Given the description of an element on the screen output the (x, y) to click on. 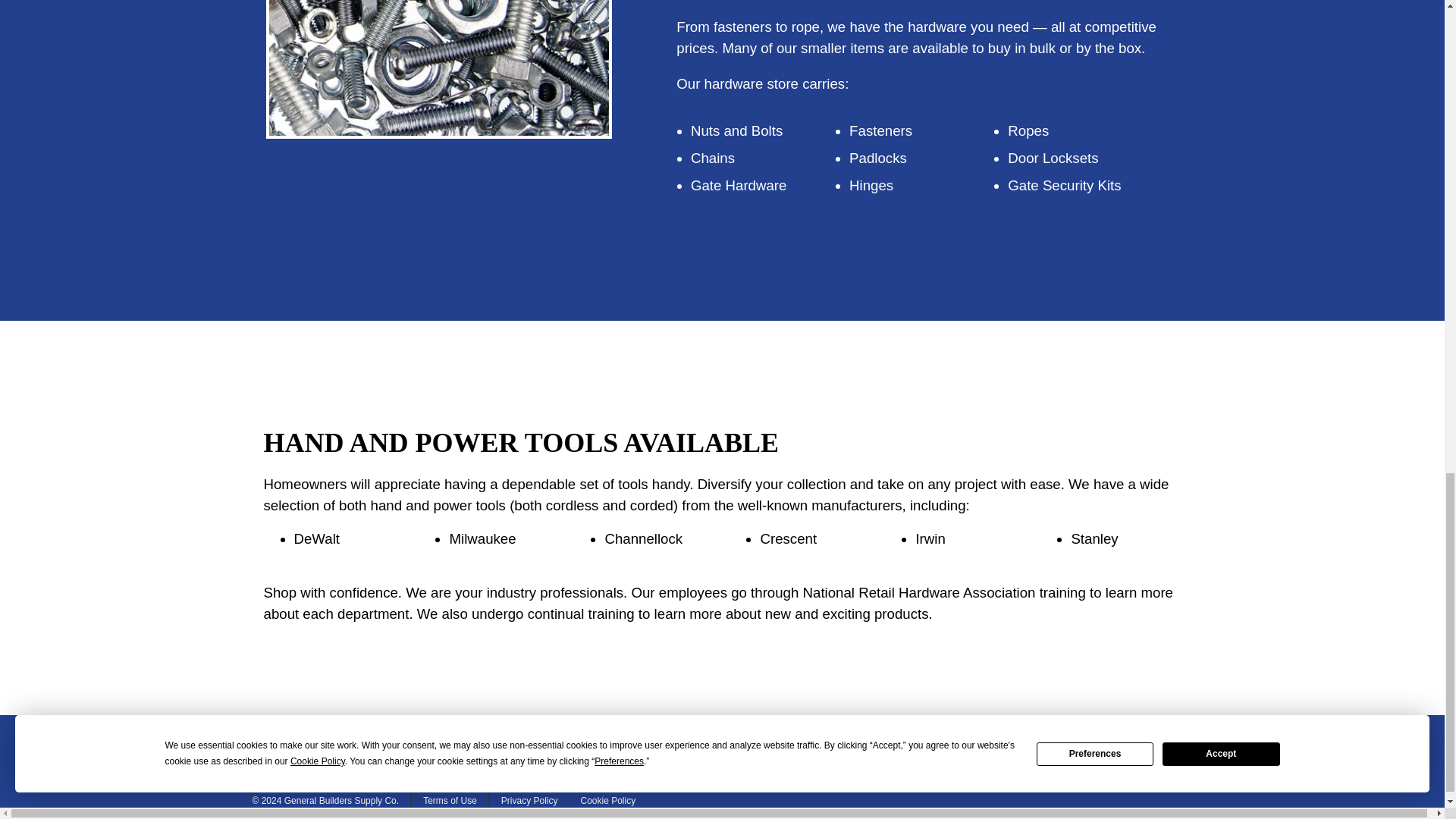
Privacy Policy (529, 800)
Facebook (1082, 748)
Lock Services (721, 748)
Contact (955, 748)
Home (345, 748)
About (845, 748)
Departments (583, 748)
Cookie Policy (601, 800)
Terms of Use (450, 800)
Products (457, 748)
